Given the description of an element on the screen output the (x, y) to click on. 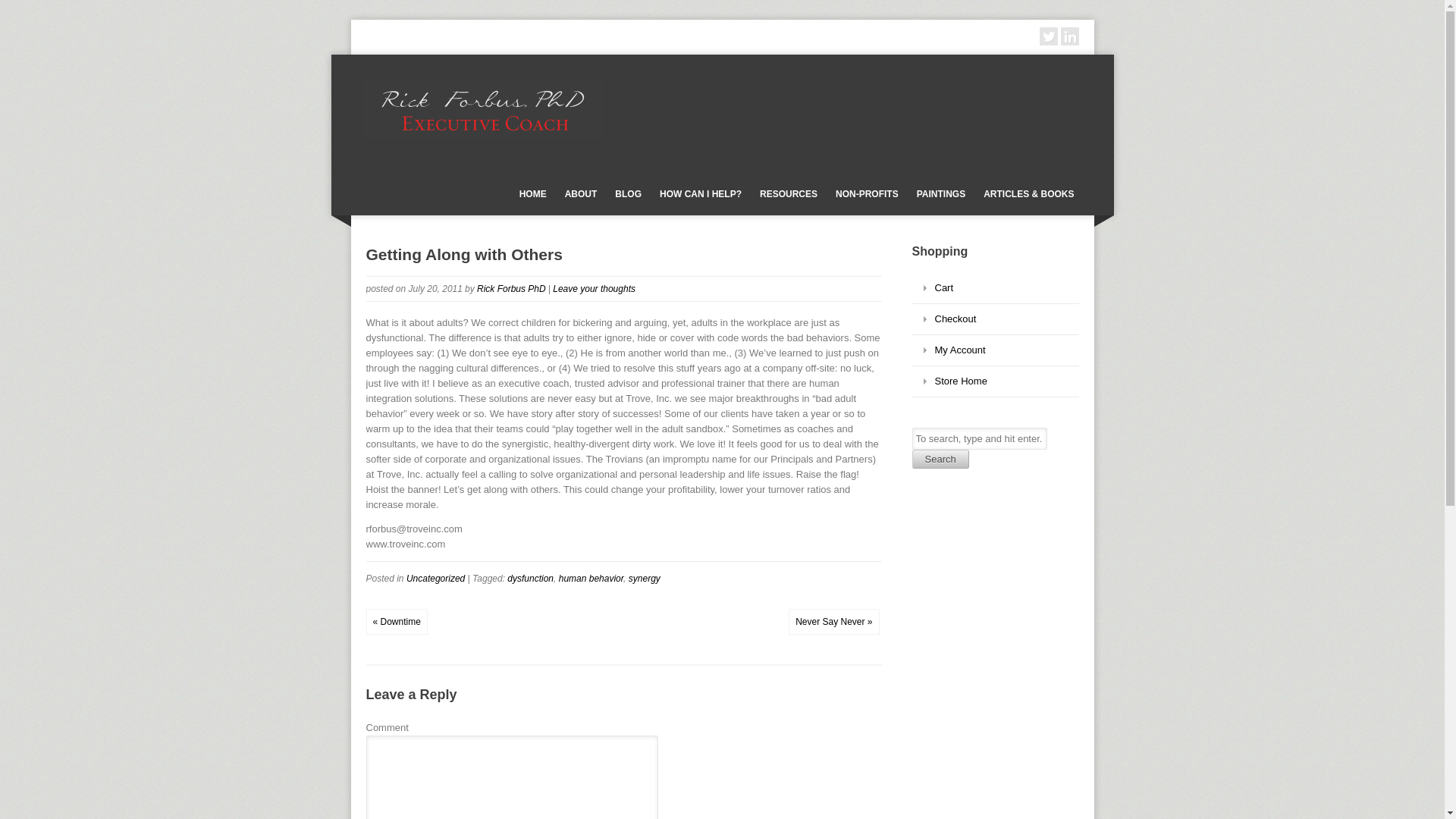
NON-PROFITS (867, 193)
HOME (533, 193)
Leave your thoughts (593, 288)
Cart (994, 287)
BLOG (627, 193)
Posts by Rick Forbus PhD (511, 288)
Rick Forbus PhD (511, 288)
synergy (644, 578)
human behavior (591, 578)
Checkout (994, 318)
My Account (994, 350)
Search (939, 458)
dysfunction (529, 578)
PAINTINGS (940, 193)
Follow me on linkedin (1068, 36)
